Given the description of an element on the screen output the (x, y) to click on. 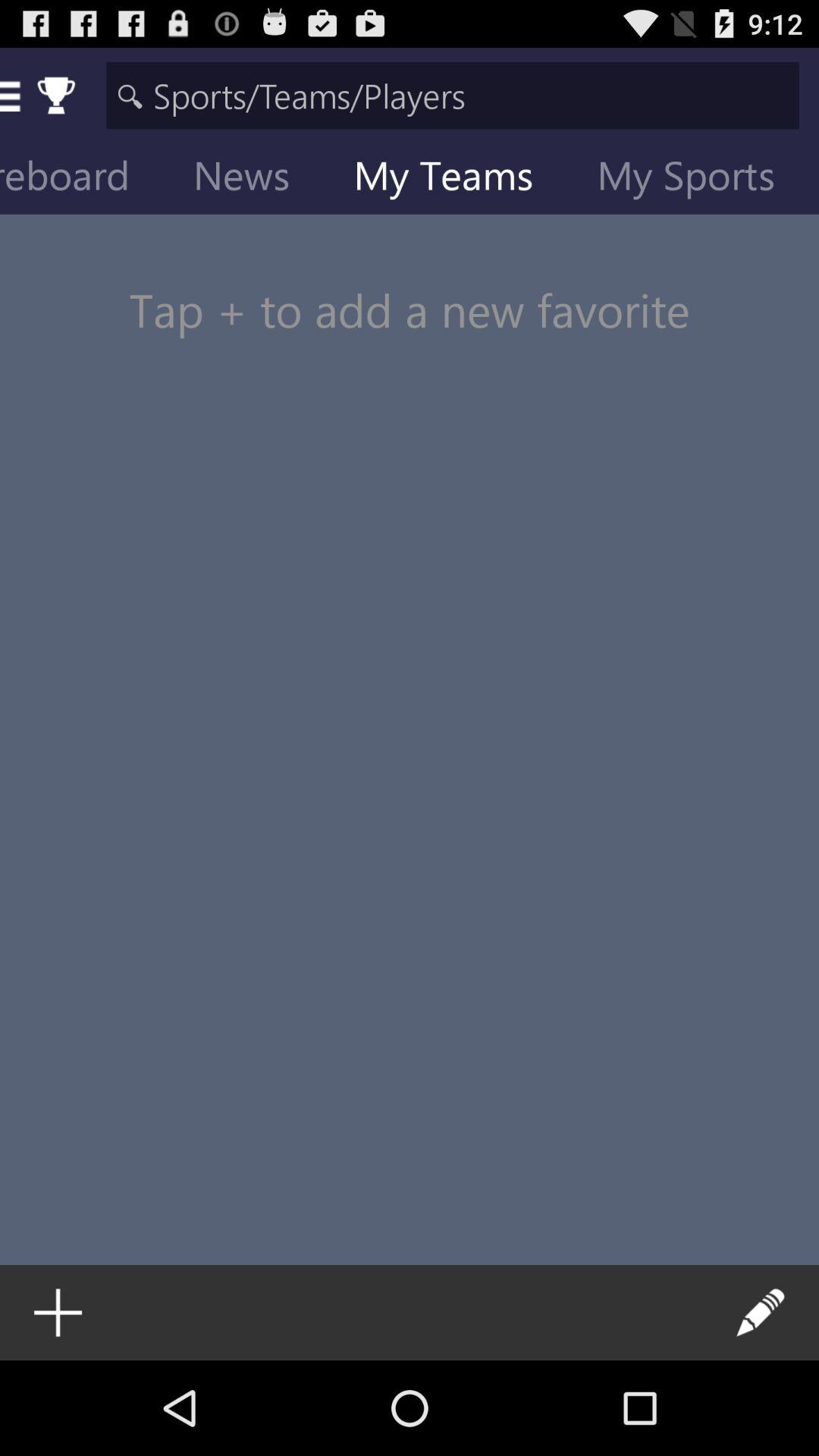
turn on icon below the scoreboard item (409, 280)
